Given the description of an element on the screen output the (x, y) to click on. 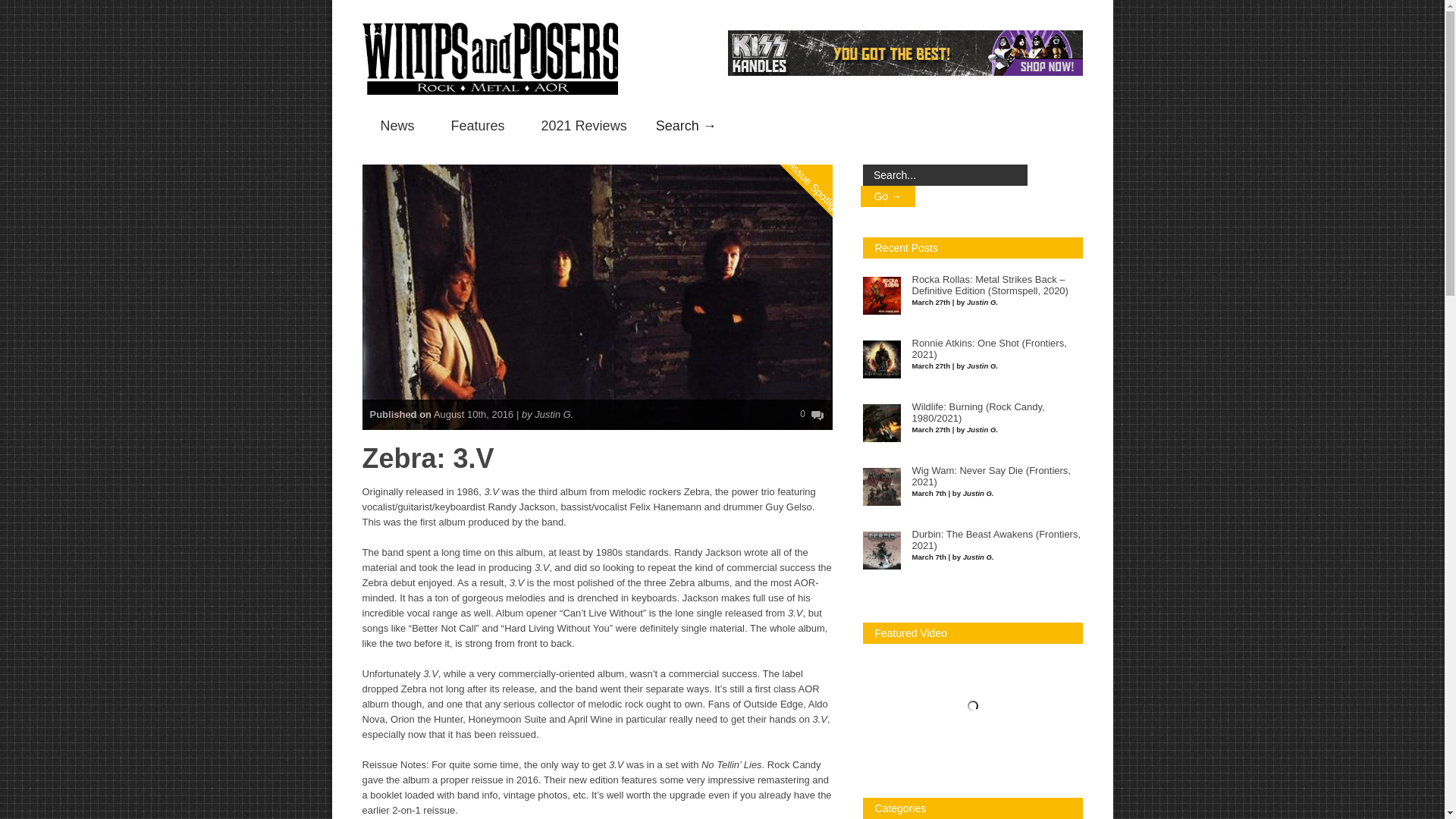
Reissue Spotlight (828, 123)
News (397, 126)
Search... (945, 174)
Search... (945, 174)
Features (477, 126)
2021 Reviews (583, 126)
